Given the description of an element on the screen output the (x, y) to click on. 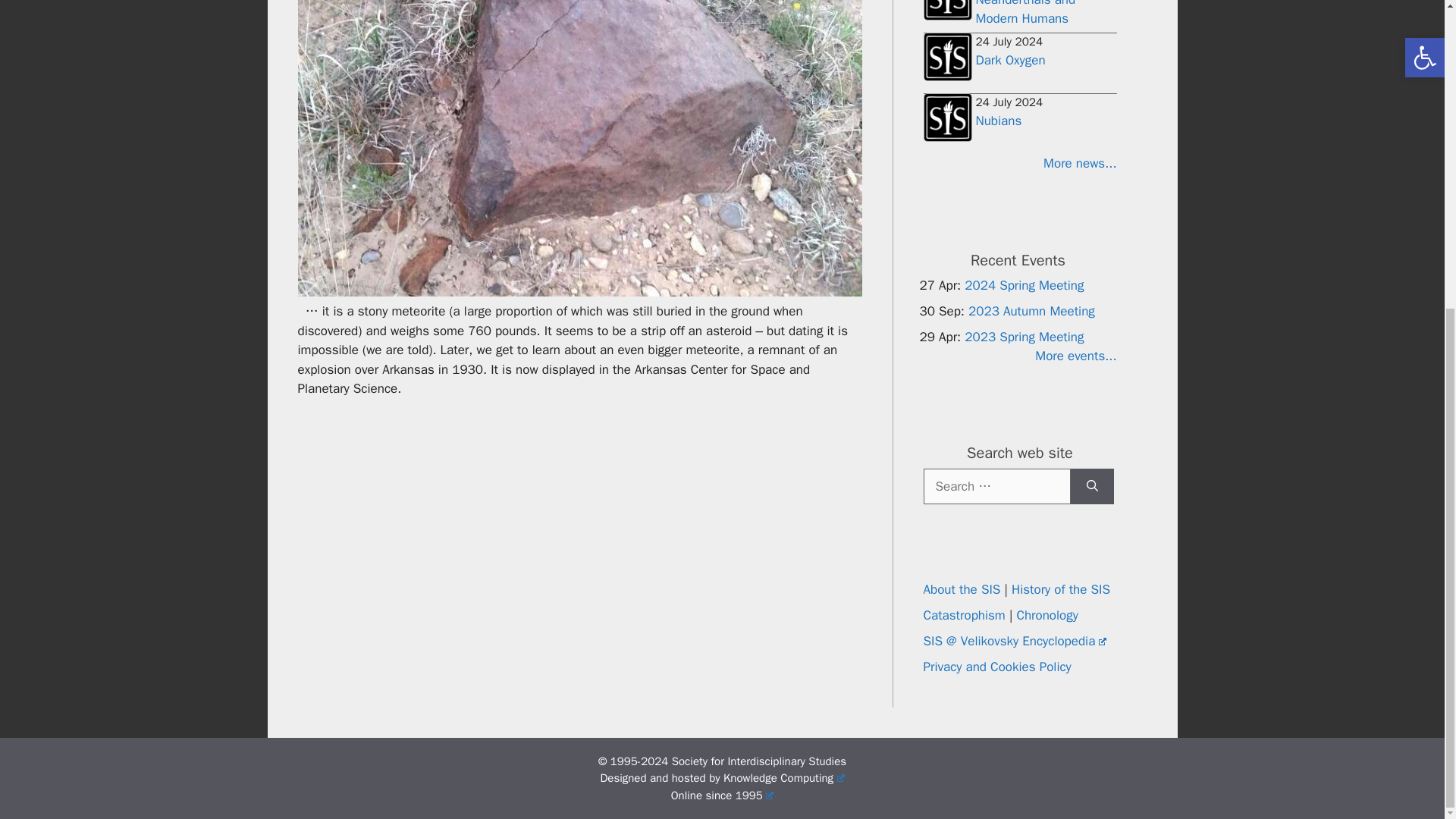
Search for: (996, 485)
